Given the description of an element on the screen output the (x, y) to click on. 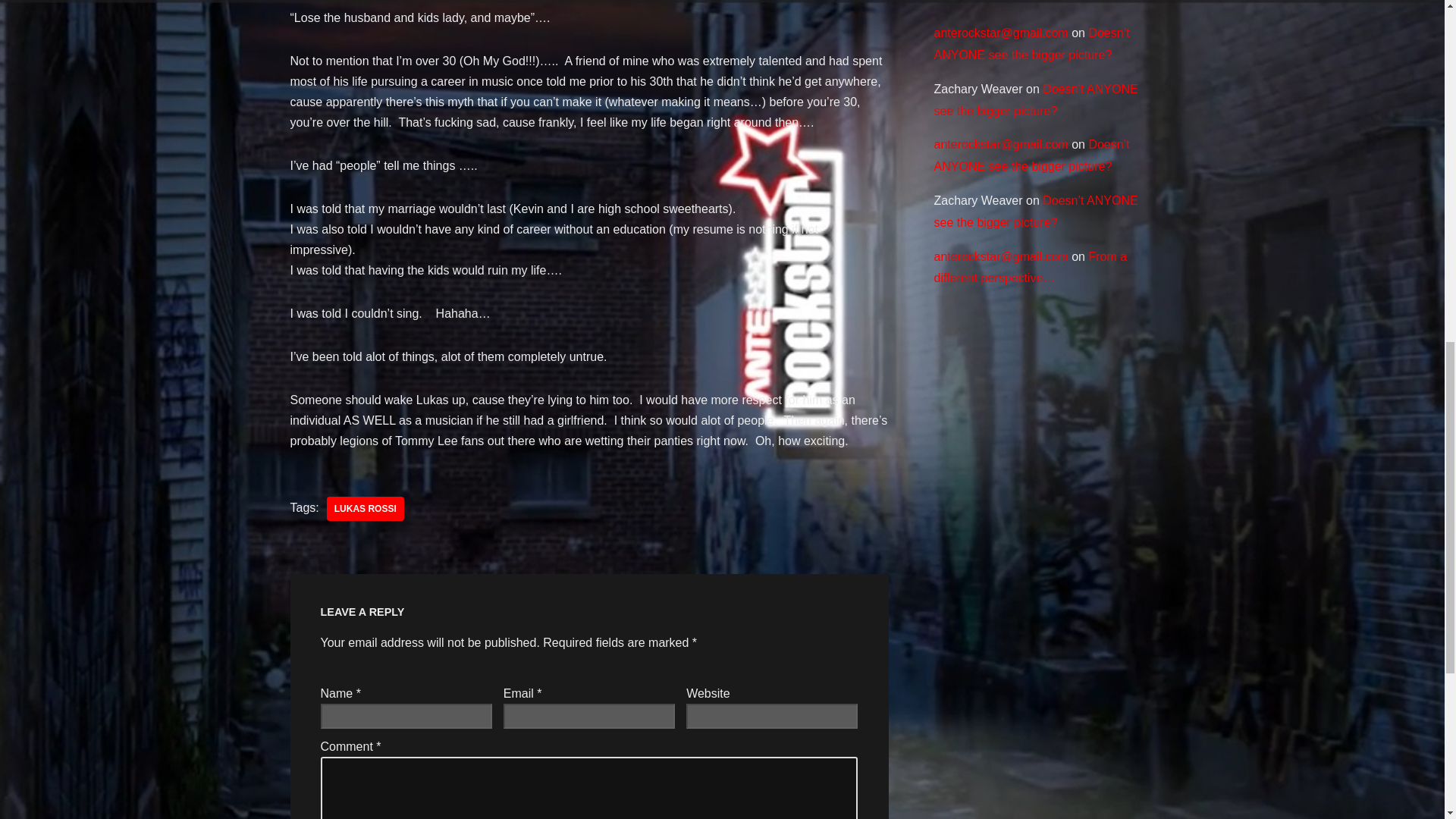
LUKAS ROSSI (365, 508)
Lukas Rossi (365, 508)
